Given the description of an element on the screen output the (x, y) to click on. 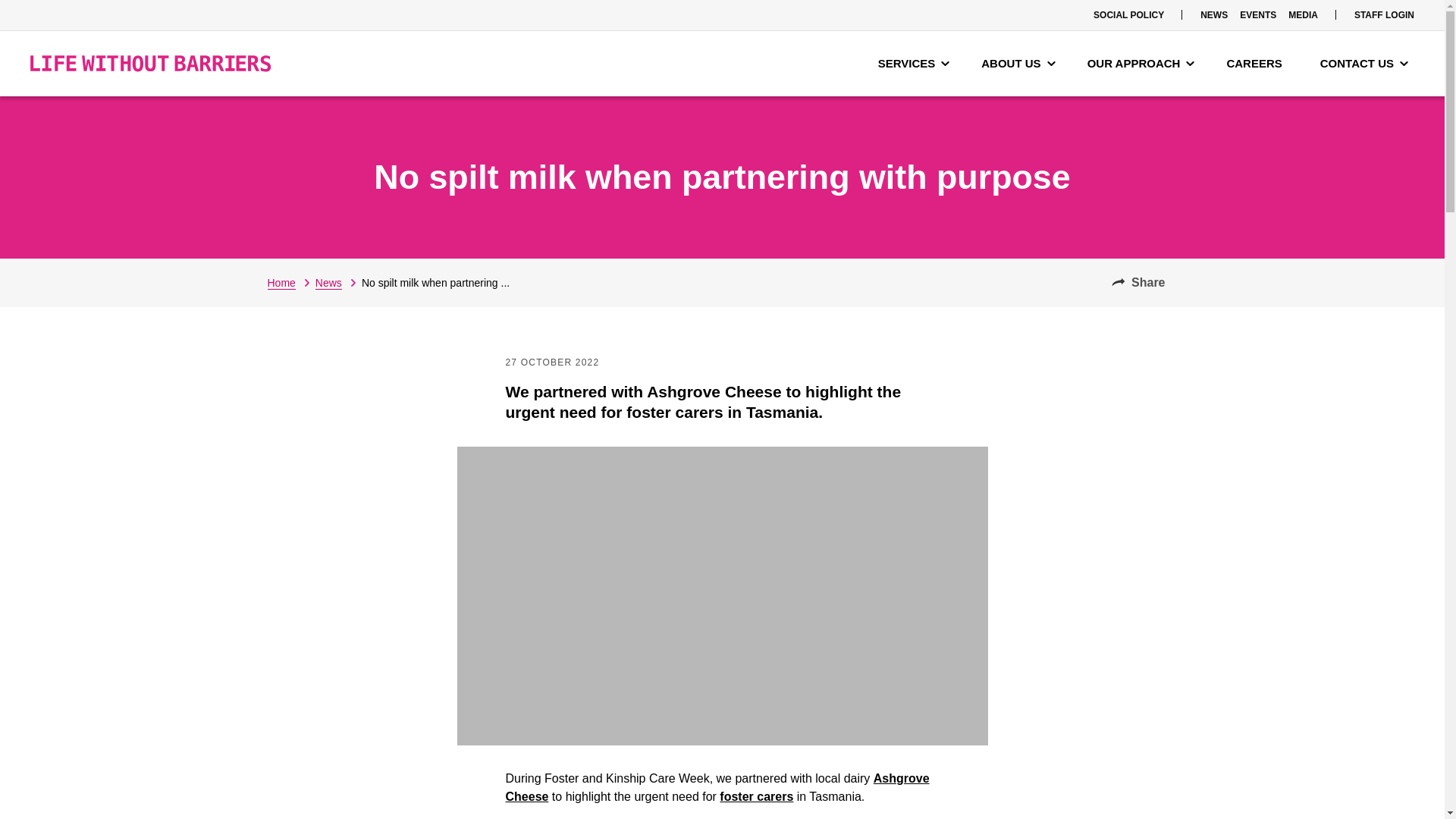
MEDIA (1302, 15)
Return to news page (338, 282)
EVENTS (1257, 15)
SOCIAL POLICY (1128, 15)
Life Without Barriers (150, 63)
Home (290, 282)
Return navigation (290, 282)
Share (1137, 282)
News (338, 282)
About us (1018, 63)
Ashgrove Cheese (716, 787)
Our approach (1141, 63)
STAFF LOGIN (1384, 15)
CAREERS (1257, 63)
Services (914, 63)
